Given the description of an element on the screen output the (x, y) to click on. 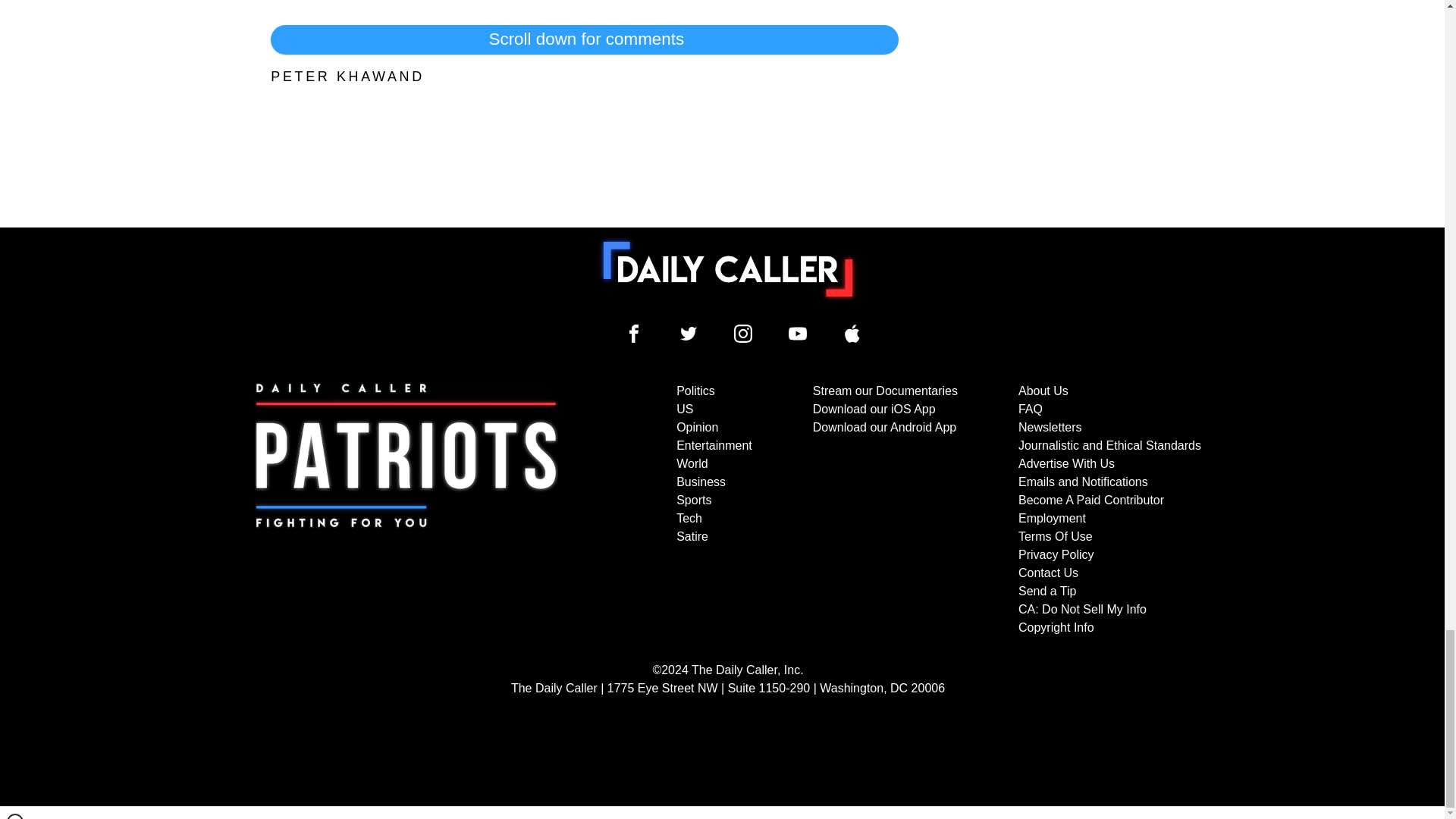
Daily Caller YouTube (852, 333)
Subscribe to The Daily Caller (405, 509)
Daily Caller Twitter (688, 333)
Scroll down for comments (584, 39)
Daily Caller Instagram (742, 333)
To home page (727, 268)
Daily Caller YouTube (797, 333)
Daily Caller Facebook (633, 333)
